Given the description of an element on the screen output the (x, y) to click on. 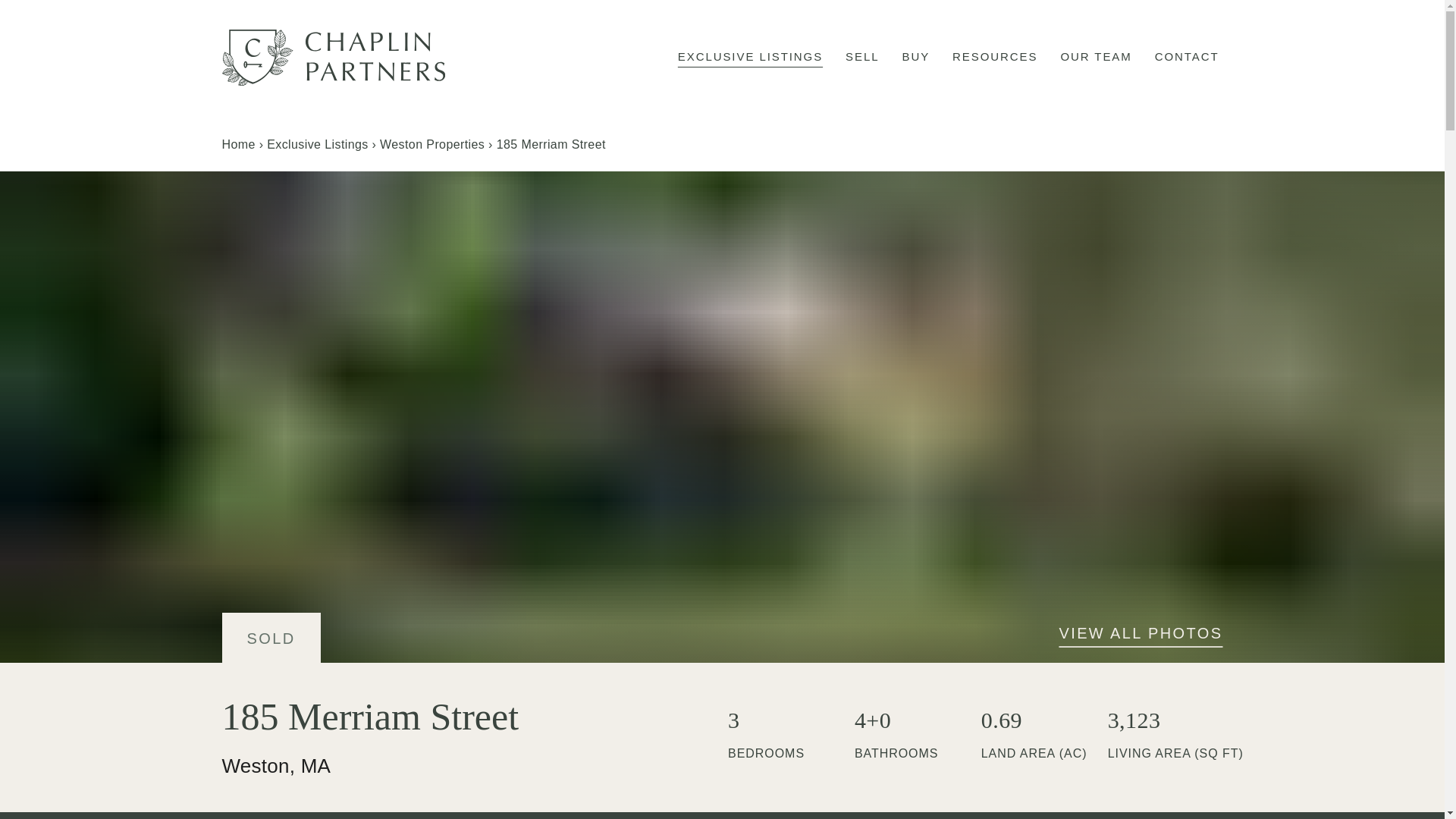
Weston Properties (432, 144)
RESOURCES (995, 57)
BUY (915, 57)
CONTACT (1187, 57)
VIEW ALL PHOTOS (1140, 632)
Home (237, 144)
185 Merriam Street (550, 144)
SELL (861, 57)
Exclusive Listings (317, 144)
OUR TEAM (1096, 57)
EXCLUSIVE LISTINGS (750, 57)
